Given the description of an element on the screen output the (x, y) to click on. 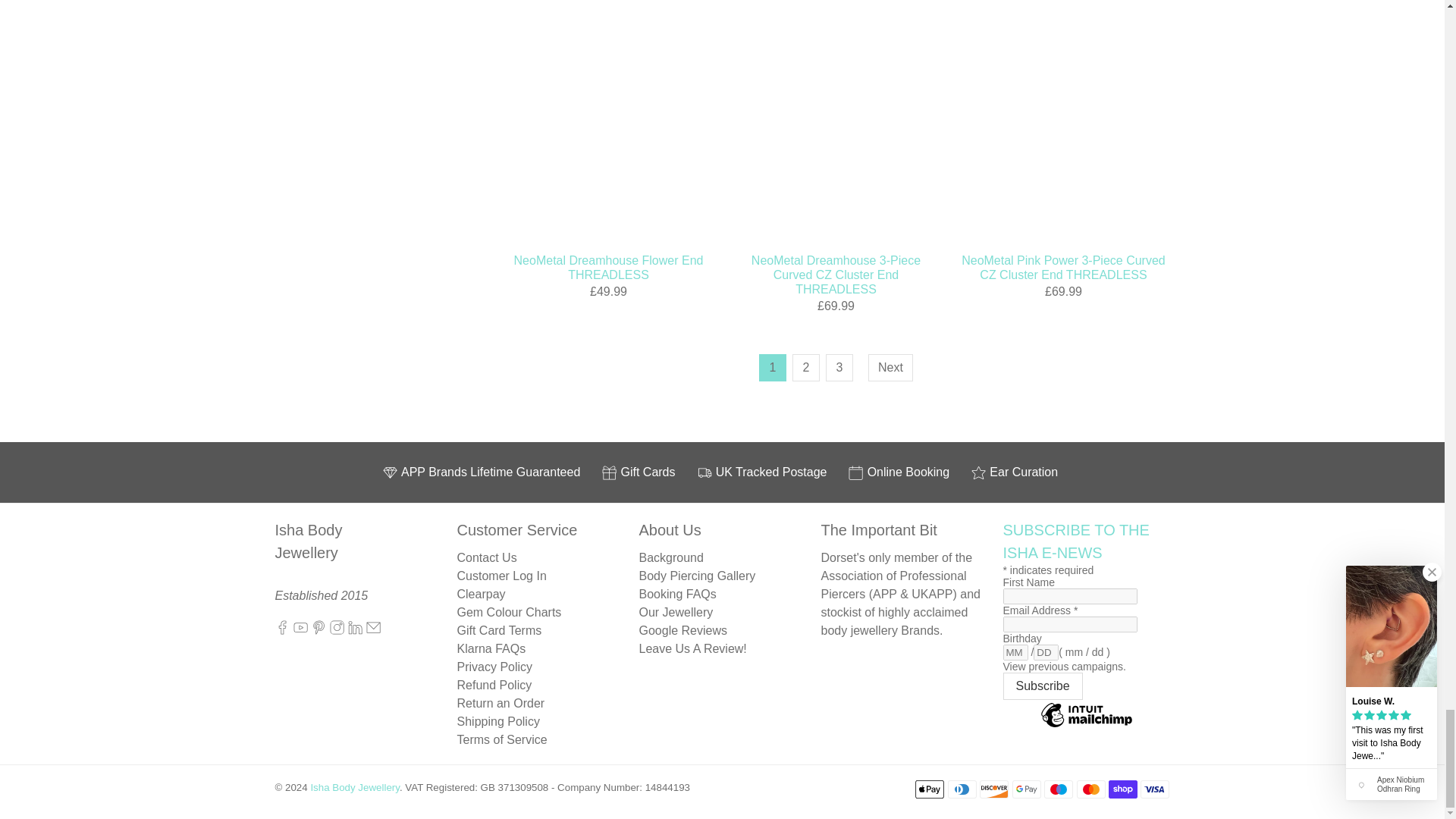
Isha Body Jewellery on Pinterest (318, 631)
Isha Body Jewellery (324, 552)
View previous campaigns (1064, 666)
Subscribe (1042, 686)
Mailchimp - email marketing made easy and fun (1086, 726)
Isha Body Jewellery on Instagram (336, 631)
Isha Body Jewellery on YouTube (300, 631)
Isha Body Jewellery on LinkedIn (354, 631)
Email Isha Body Jewellery (373, 631)
Isha Body Jewellery on Facebook (281, 631)
